Given the description of an element on the screen output the (x, y) to click on. 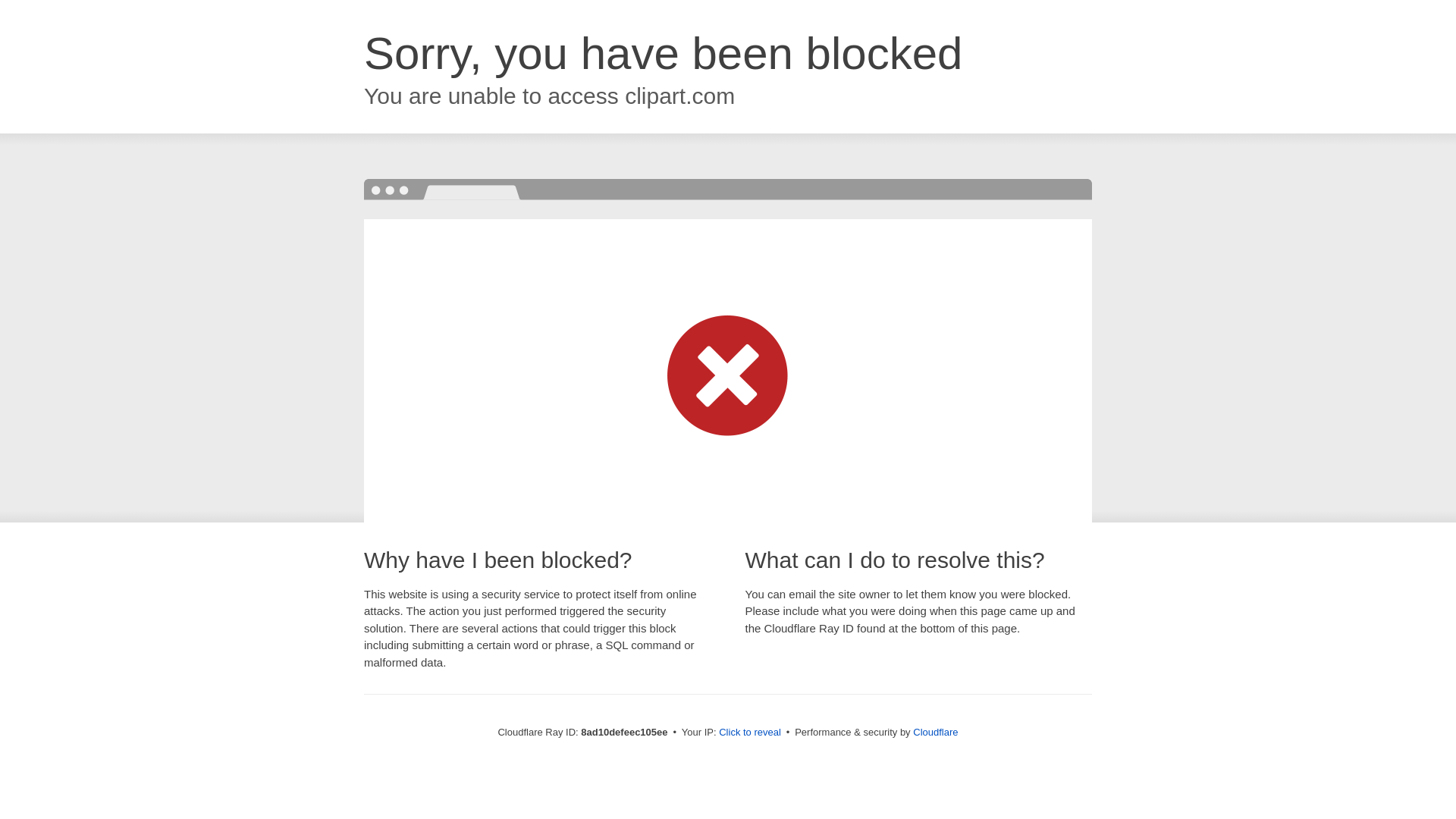
Click to reveal (749, 732)
Cloudflare (935, 731)
